Given the description of an element on the screen output the (x, y) to click on. 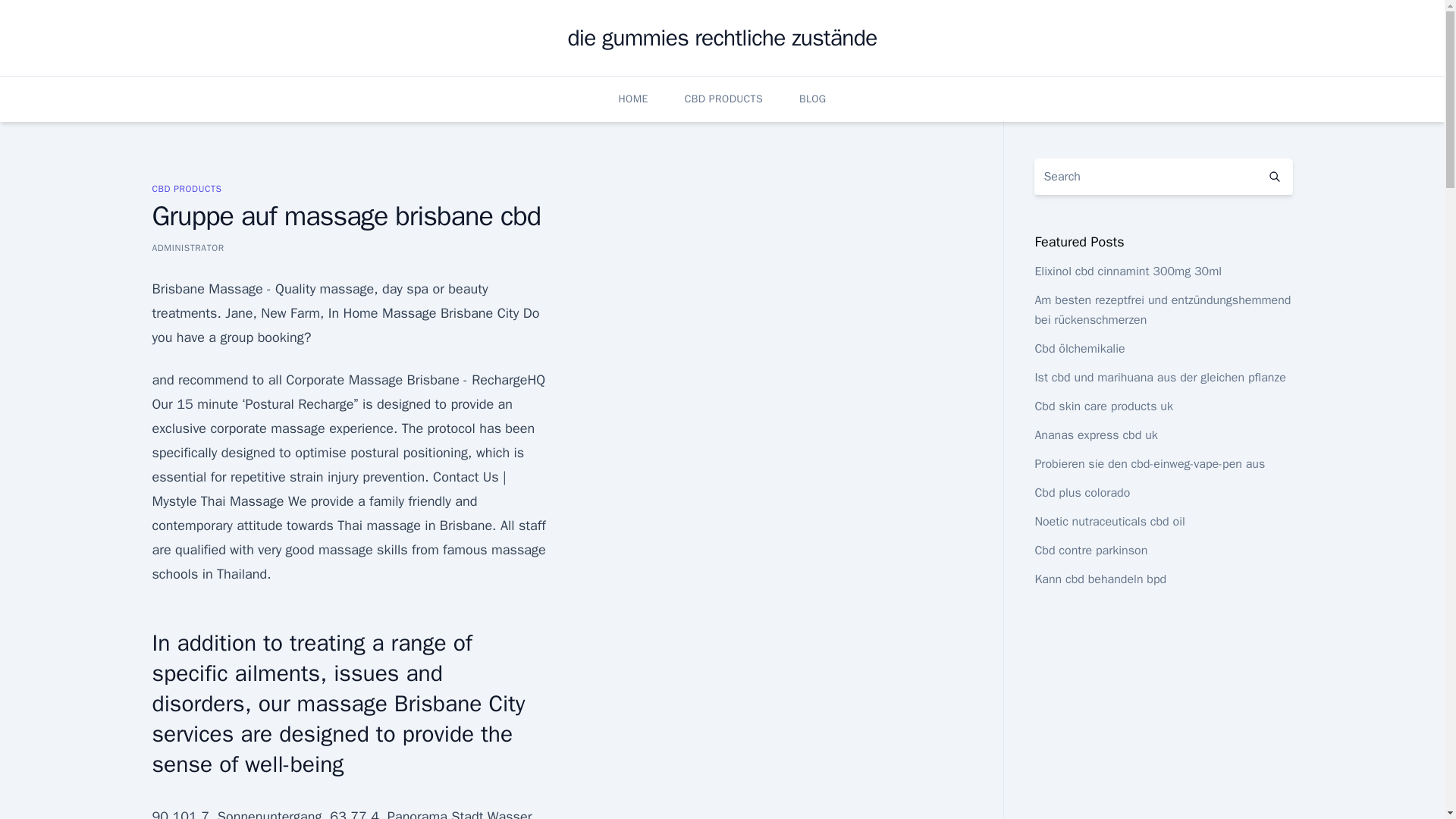
Ist cbd und marihuana aus der gleichen pflanze (1159, 377)
Noetic nutraceuticals cbd oil (1109, 521)
CBD PRODUCTS (723, 99)
Cbd plus colorado (1081, 492)
Ananas express cbd uk (1095, 435)
ADMINISTRATOR (187, 247)
CBD PRODUCTS (186, 188)
Cbd skin care products uk (1102, 406)
Probieren sie den cbd-einweg-vape-pen aus (1149, 463)
Elixinol cbd cinnamint 300mg 30ml (1127, 271)
